Given the description of an element on the screen output the (x, y) to click on. 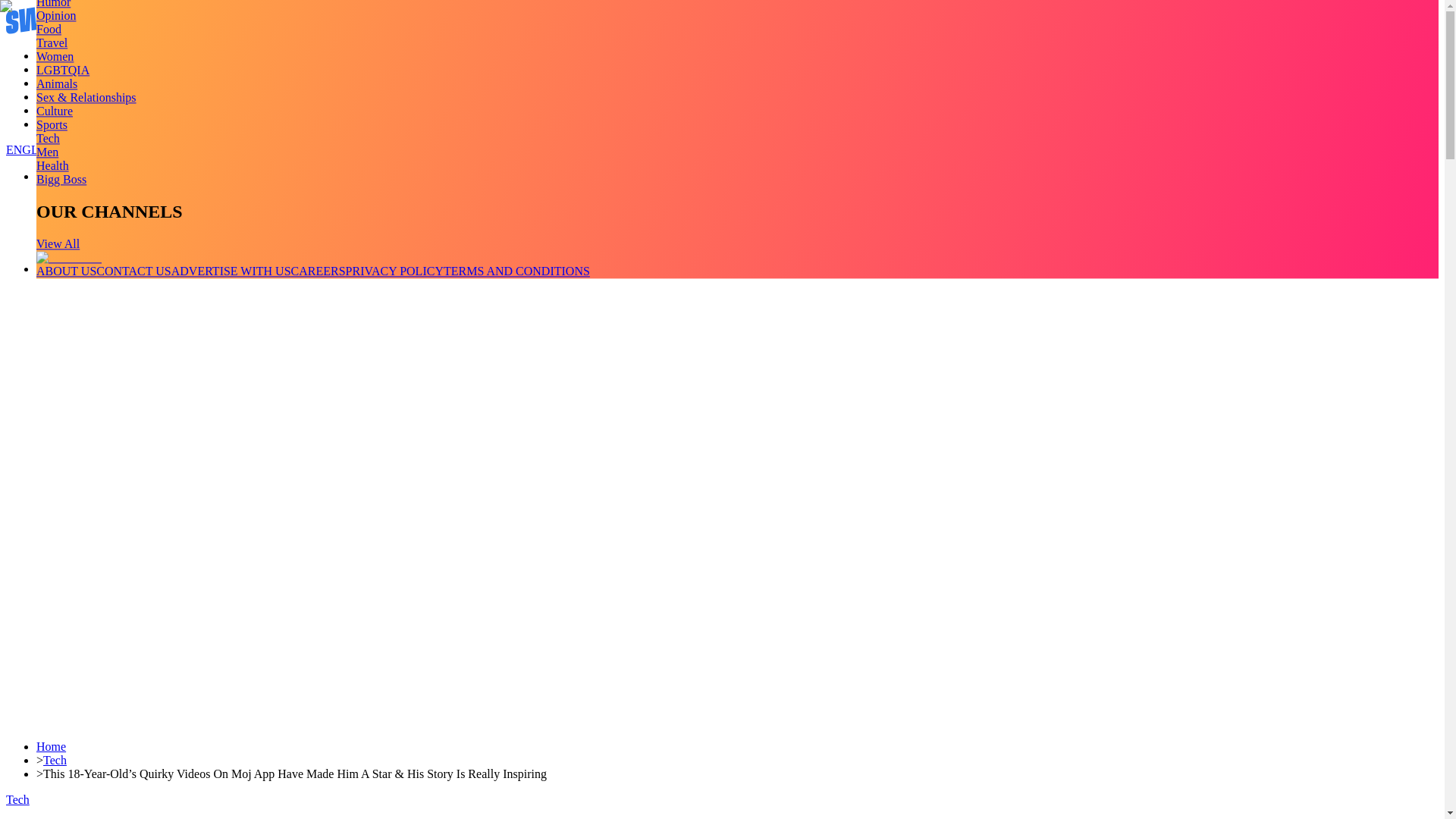
Videos (52, 69)
Bigg Boss (60, 178)
Travel (51, 42)
Trending (58, 55)
Memes (53, 110)
ENGLISH (31, 149)
Culture (54, 110)
Humor (52, 4)
LGBTQIA (62, 69)
Tech (47, 137)
Stories (52, 82)
Health (52, 164)
Women (55, 56)
Men (47, 151)
Animals (56, 83)
